Given the description of an element on the screen output the (x, y) to click on. 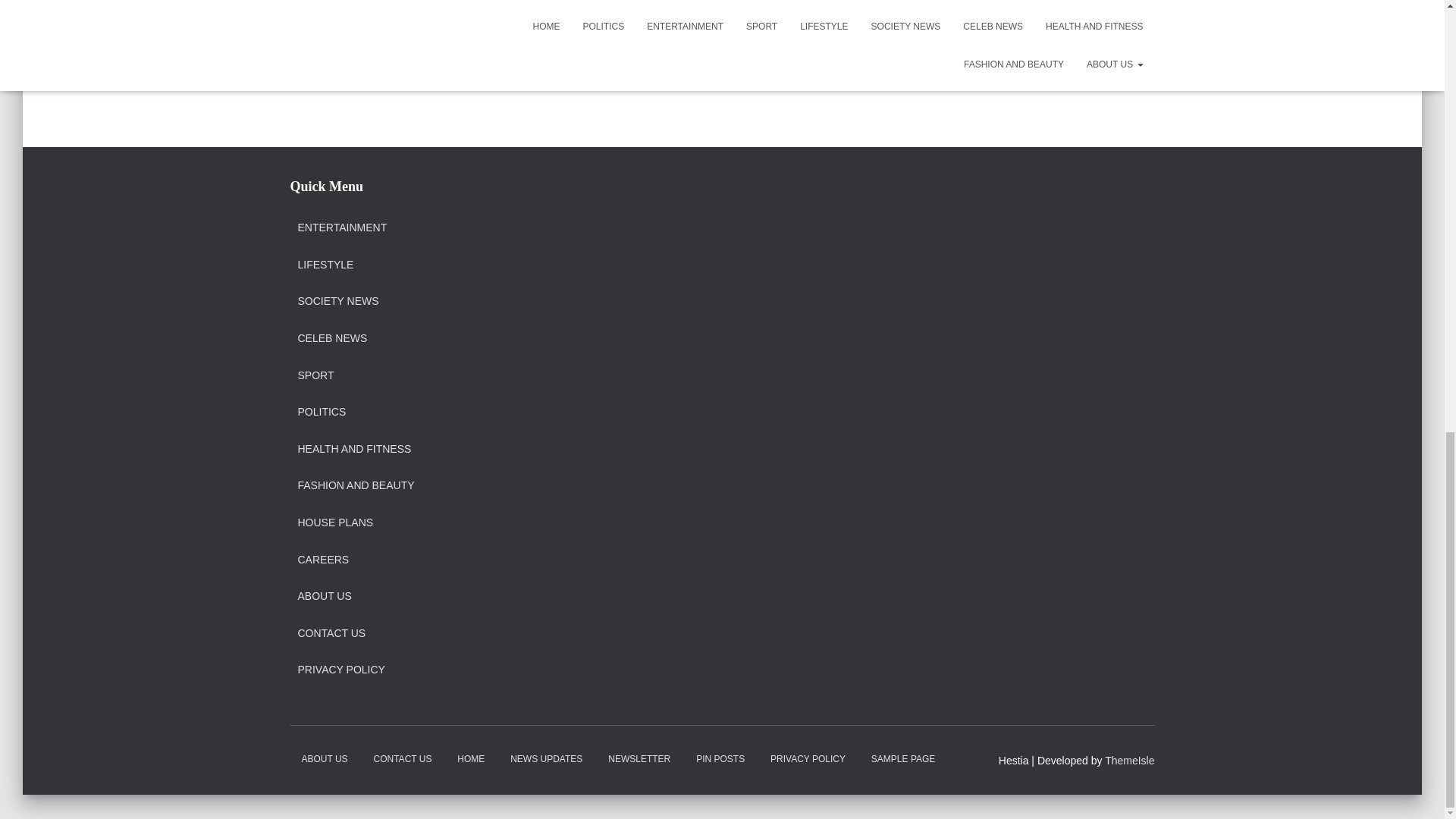
POLITICS (321, 412)
NEWS UPDATES (546, 759)
ABOUT US (323, 596)
PRIVACY POLICY (340, 670)
ABOUT US (323, 759)
CONTACT US (331, 633)
HOUSE PLANS (334, 522)
HOME (470, 759)
FASHION AND BEAUTY (355, 485)
SOCIETY NEWS (337, 301)
